Given the description of an element on the screen output the (x, y) to click on. 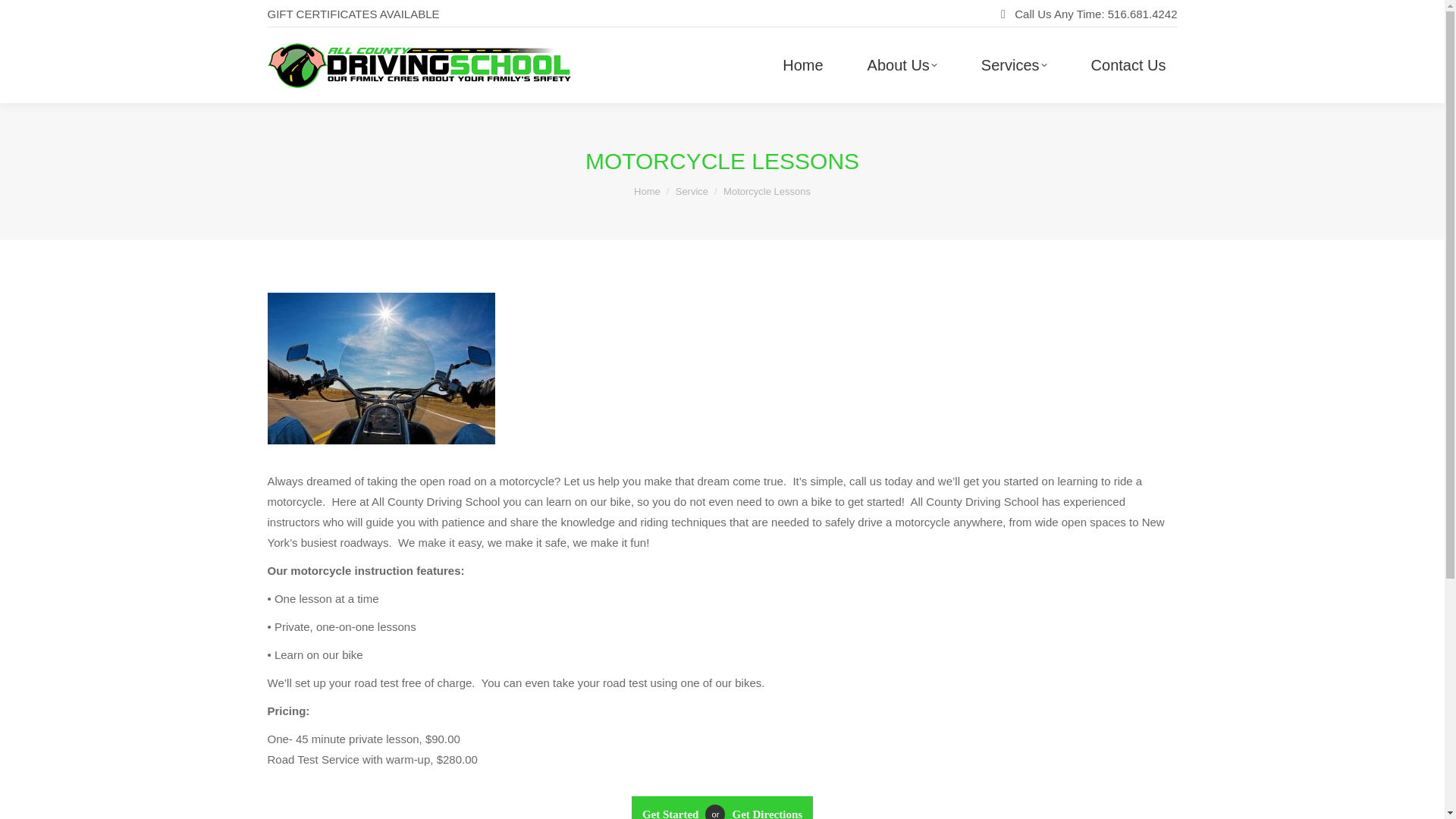
motorcycle-visor (380, 368)
Service (691, 191)
Service (691, 191)
Services (1013, 64)
Home (647, 191)
About Us (902, 64)
Home (802, 64)
Get Directions (763, 807)
Home (647, 191)
Contact Us (672, 807)
